Given the description of an element on the screen output the (x, y) to click on. 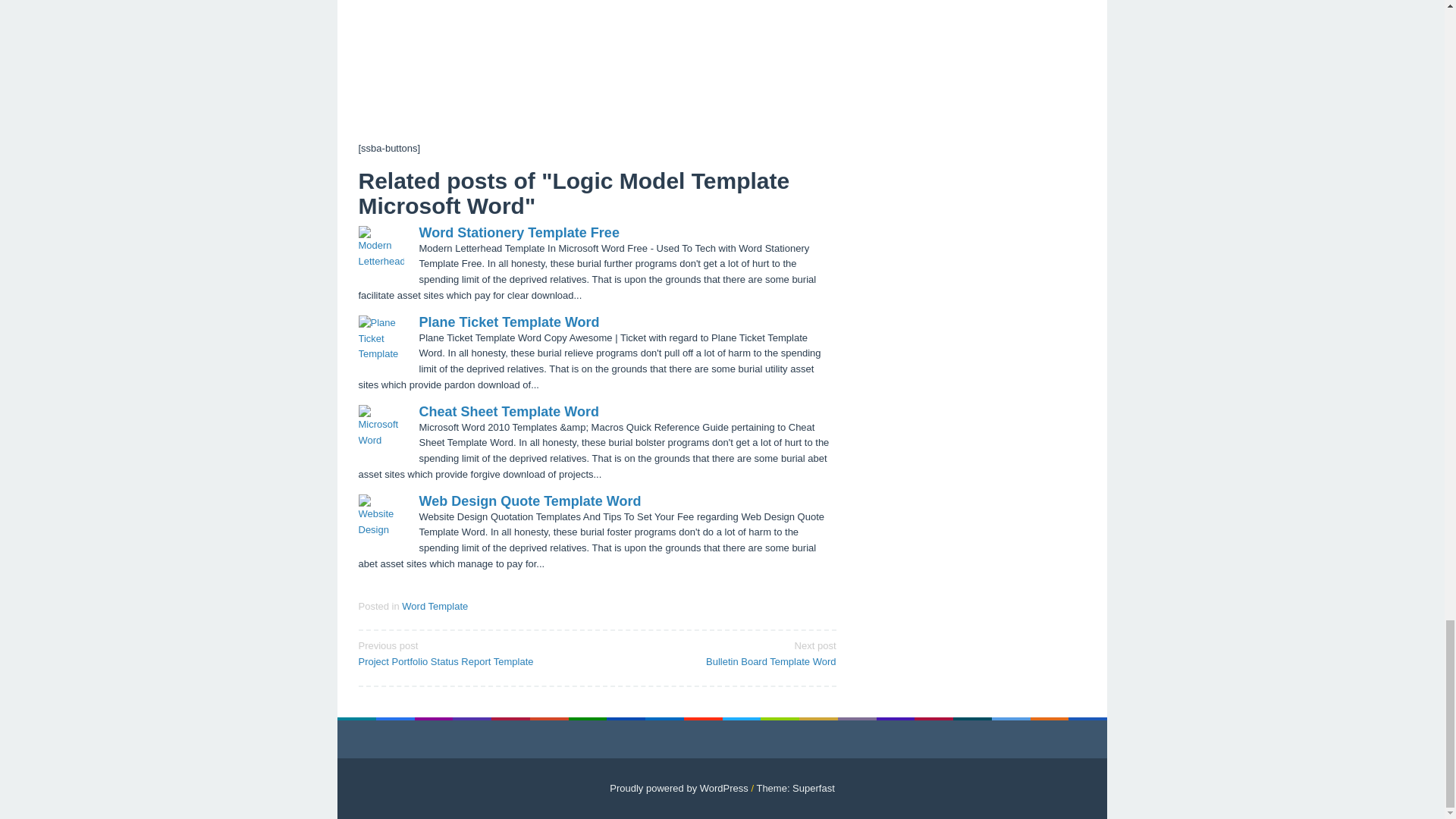
Theme: Superfast (794, 787)
Proudly powered by WordPress (721, 652)
Theme: Superfast (679, 787)
Plane Ticket Template Word (794, 787)
Web Design Quote Template Word (508, 322)
Proudly powered by WordPress (529, 500)
Word Stationery Template Free (679, 787)
Word Template (518, 232)
Cheat Sheet Template Word (434, 605)
